Given the description of an element on the screen output the (x, y) to click on. 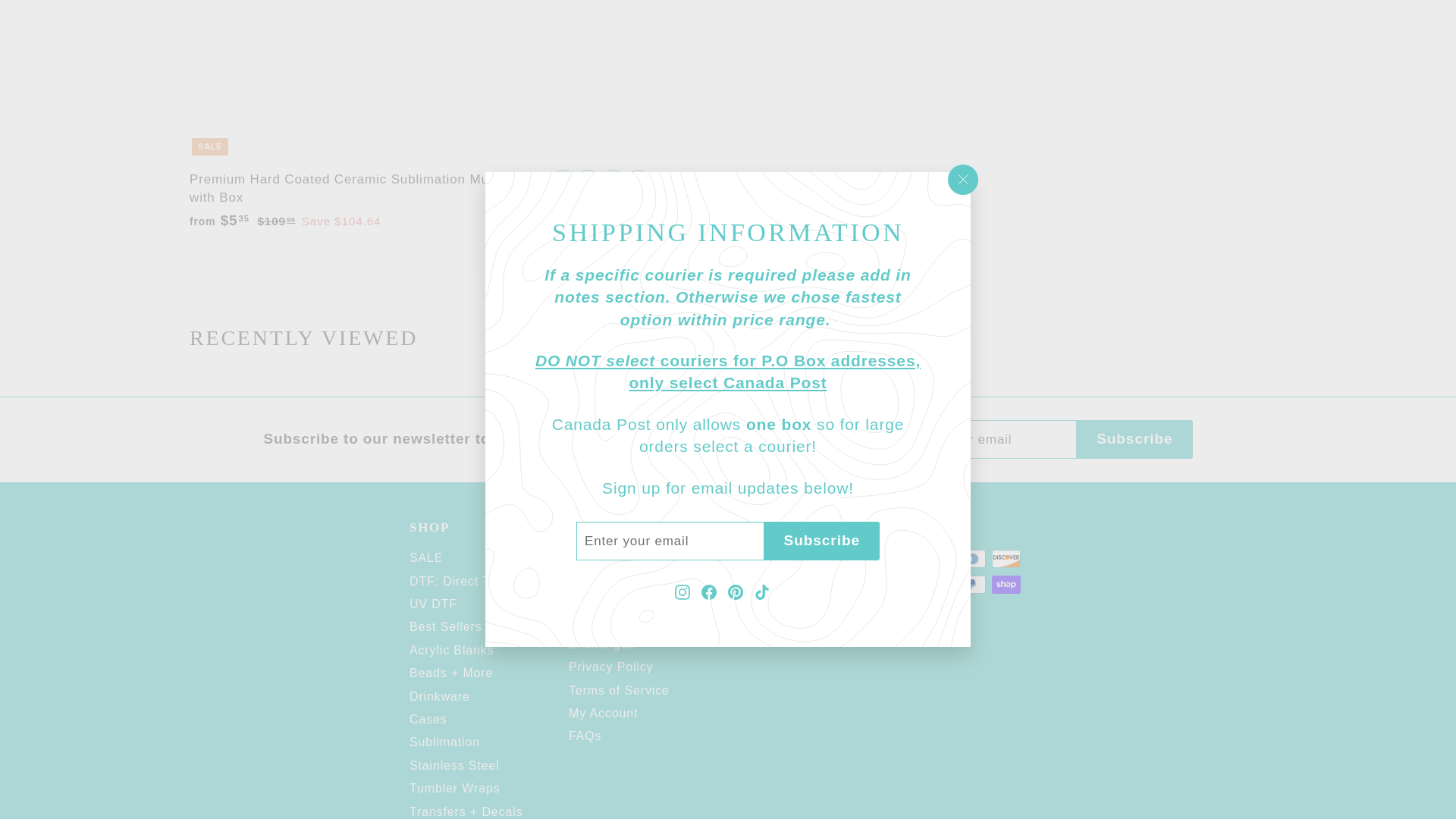
American Express (900, 558)
instagram (736, 624)
